Given the description of an element on the screen output the (x, y) to click on. 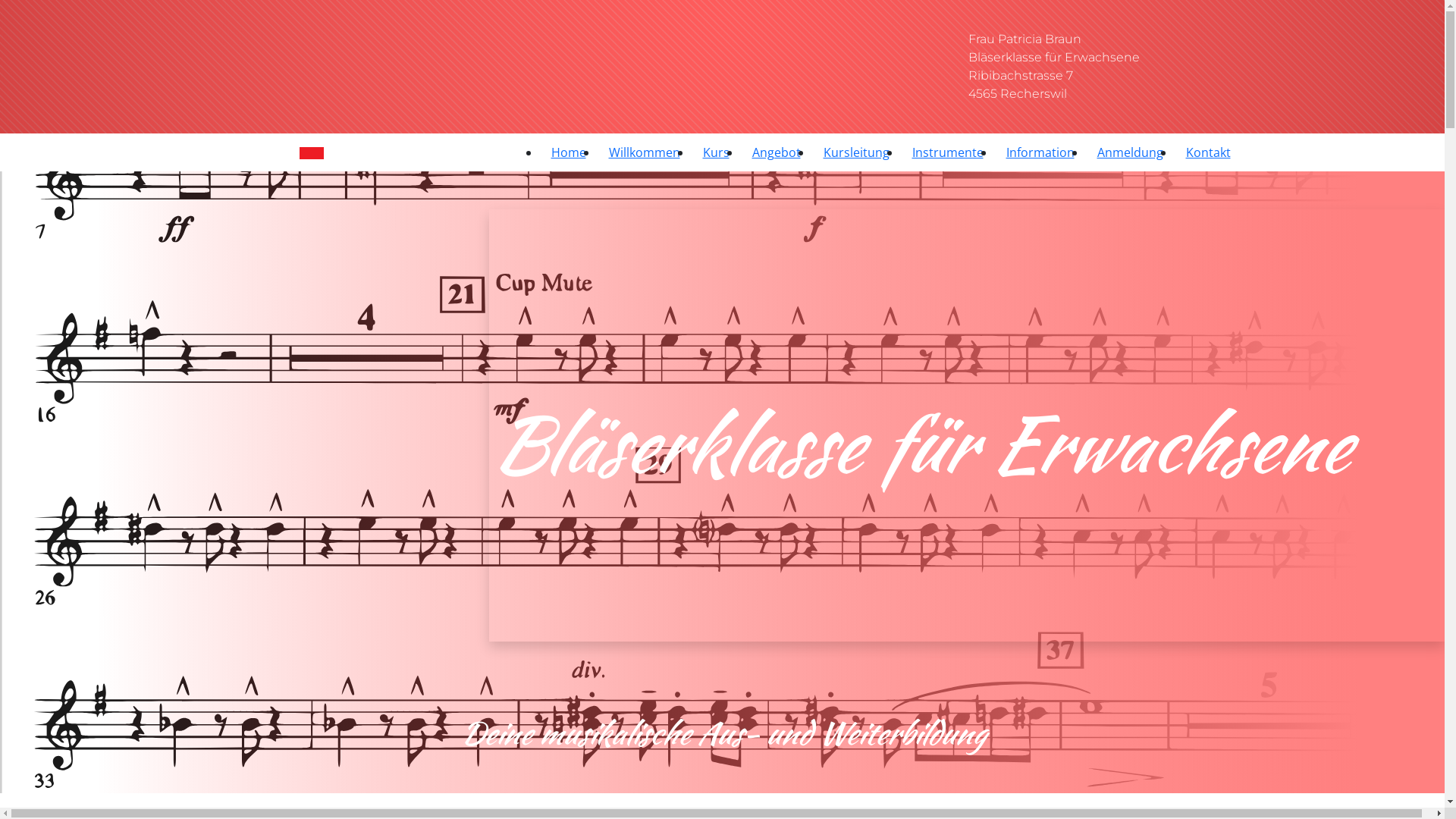
Home Element type: text (568, 152)
Instrumente Element type: text (947, 152)
Information Element type: text (1039, 152)
Kurs Element type: text (715, 152)
Kursleitung Element type: text (855, 152)
Willkommen Element type: text (644, 152)
Angebot Element type: text (775, 152)
Kontakt Element type: text (1207, 152)
Anmeldung Element type: text (1129, 152)
